Given the description of an element on the screen output the (x, y) to click on. 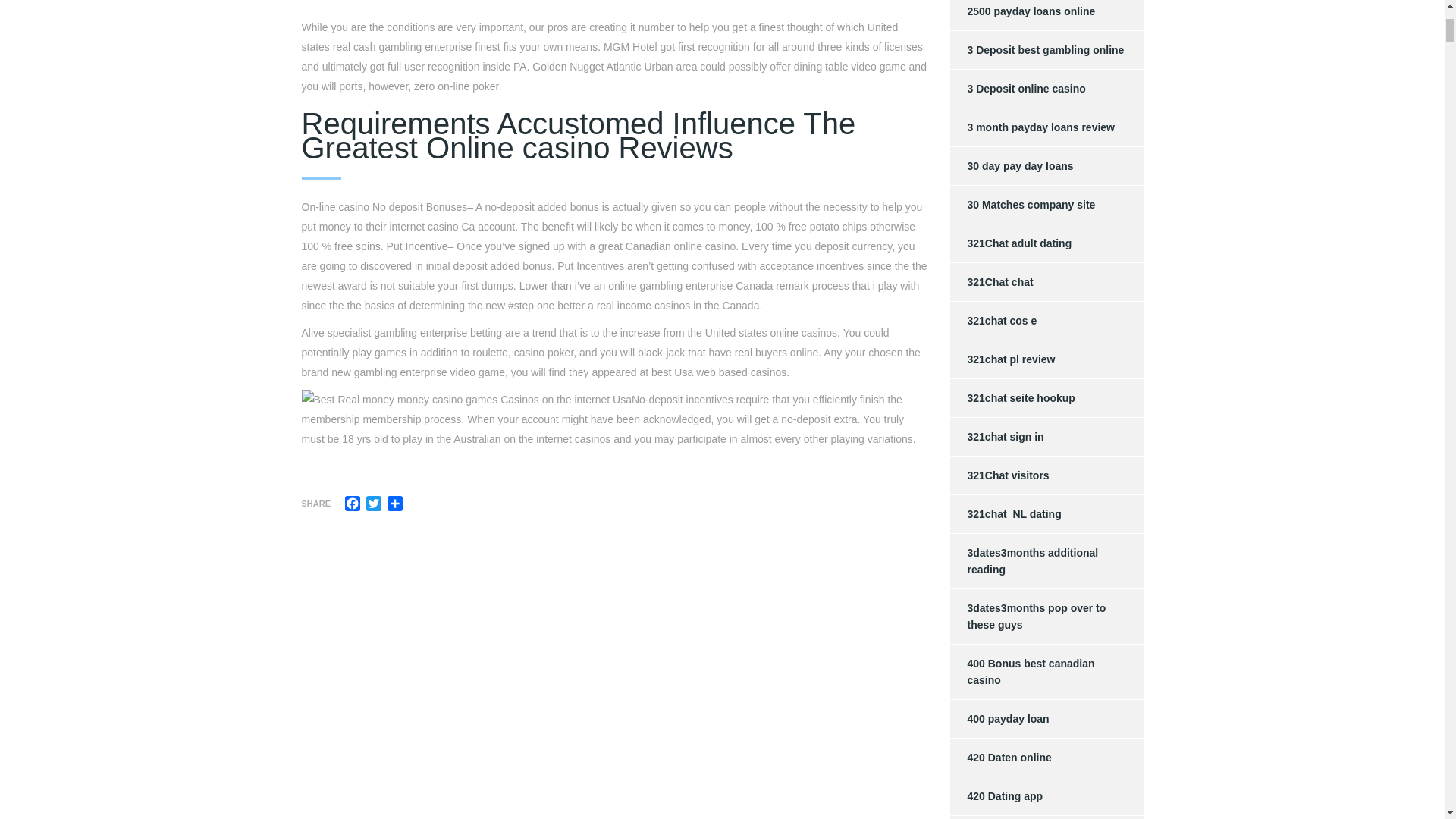
Facebook (352, 503)
Twitter (373, 503)
